Given the description of an element on the screen output the (x, y) to click on. 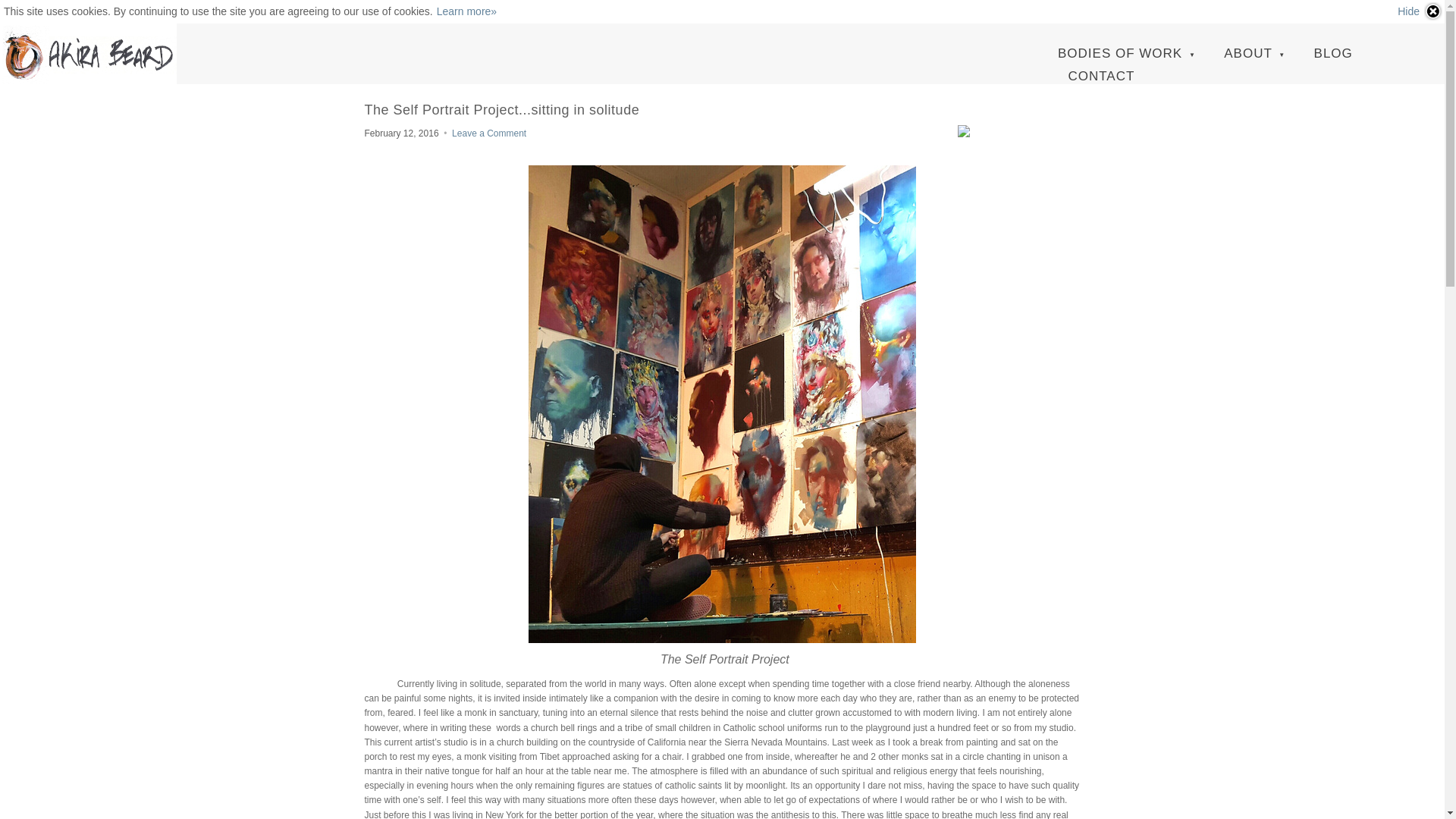
BLOG (1332, 53)
Leave a Comment (488, 132)
CONTACT (1100, 76)
Hide (1419, 11)
Akira Beard (88, 53)
